Given the description of an element on the screen output the (x, y) to click on. 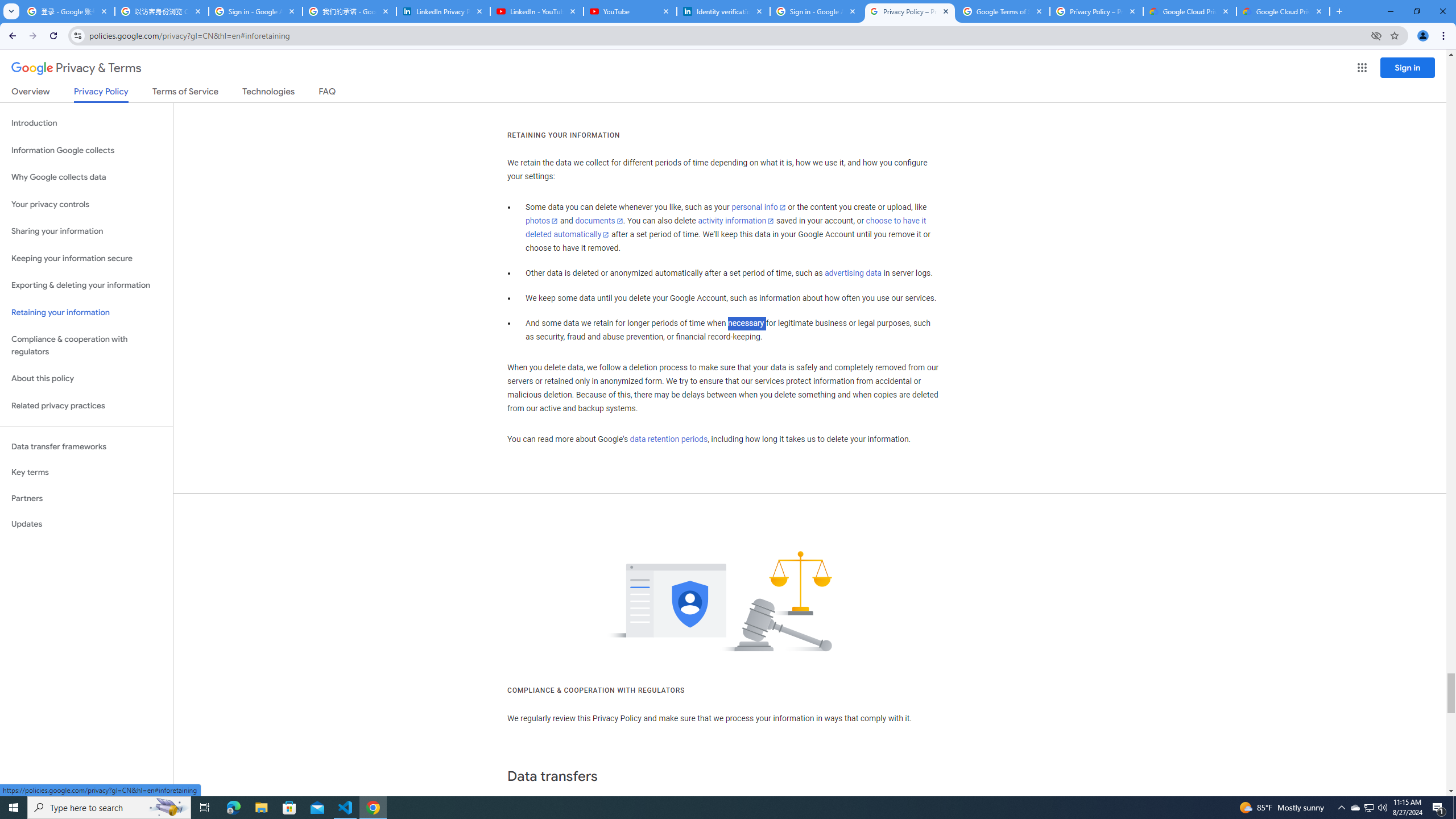
choose to have it deleted automatically (725, 227)
